Given the description of an element on the screen output the (x, y) to click on. 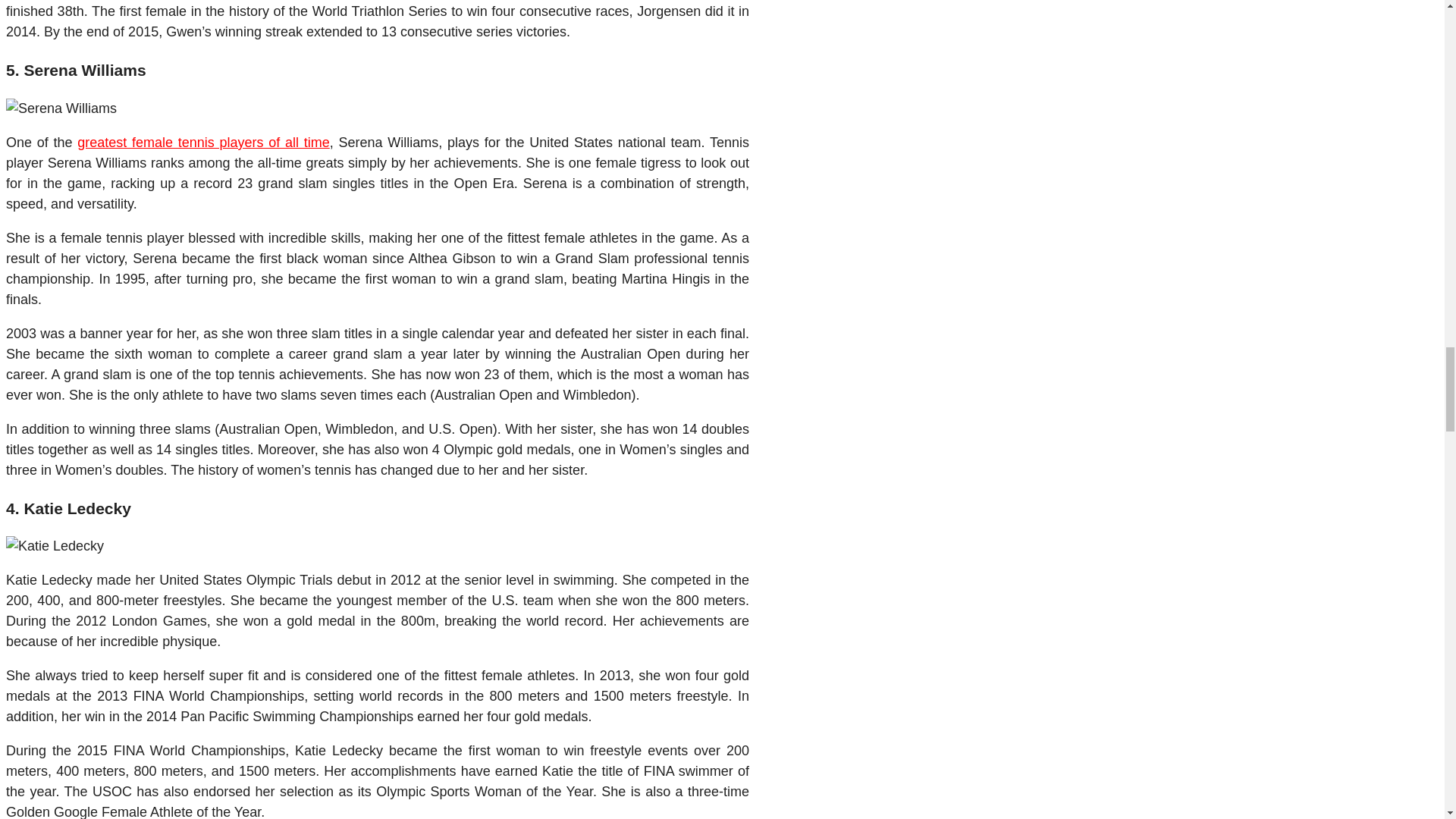
greatest female tennis players of all time (203, 142)
